Given the description of an element on the screen output the (x, y) to click on. 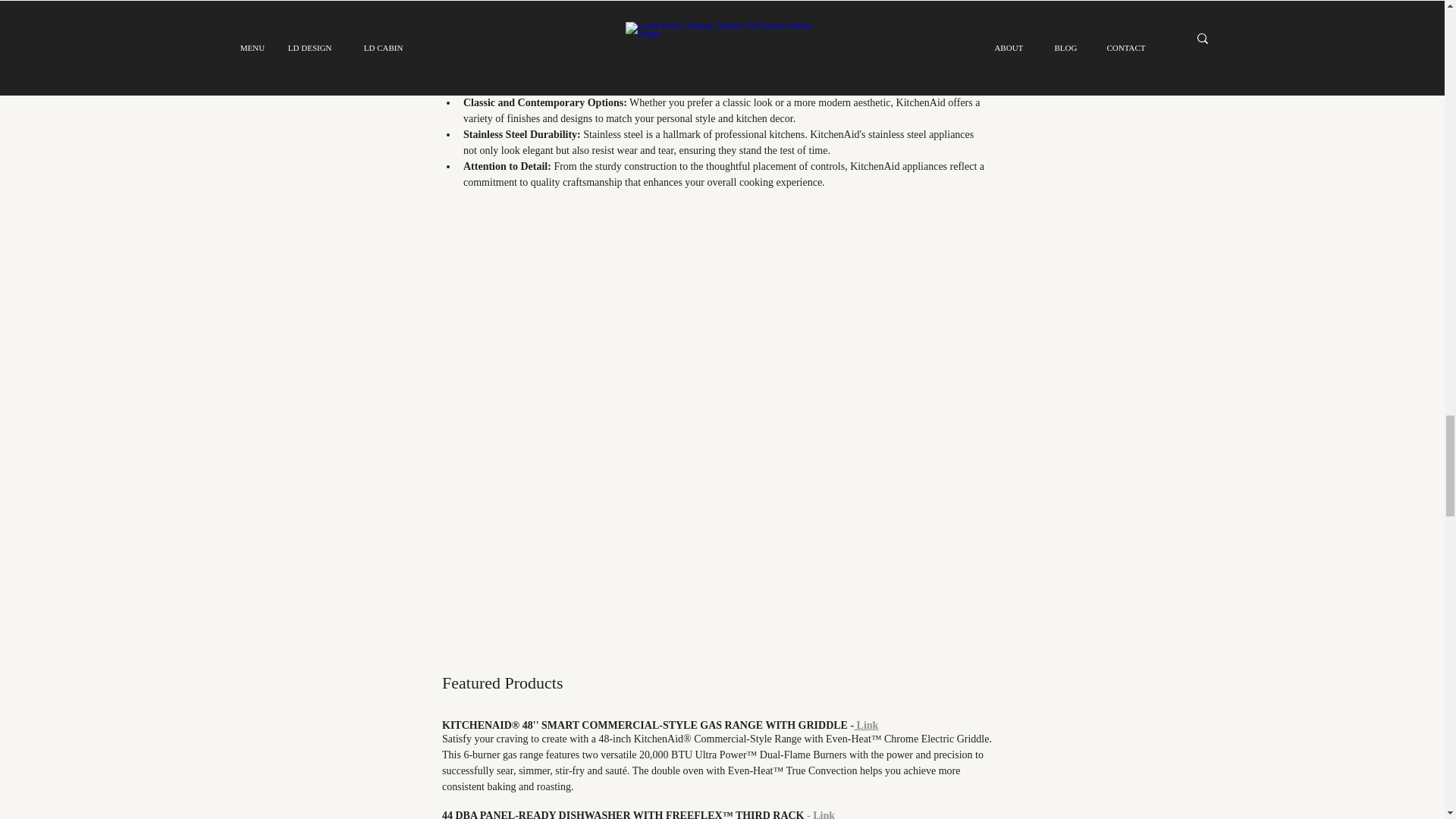
 Link (865, 725)
 - Link (818, 814)
